Given the description of an element on the screen output the (x, y) to click on. 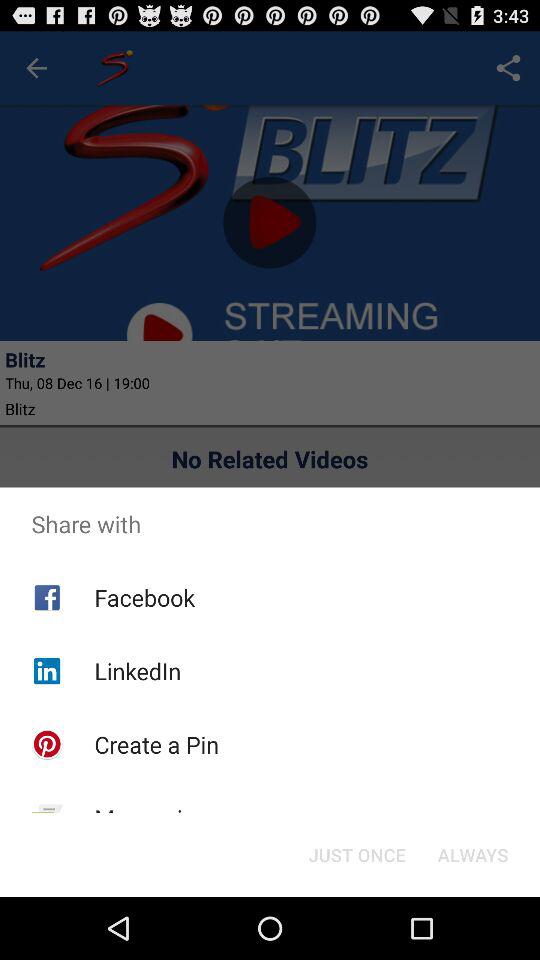
click icon to the left of the just once icon (151, 817)
